Given the description of an element on the screen output the (x, y) to click on. 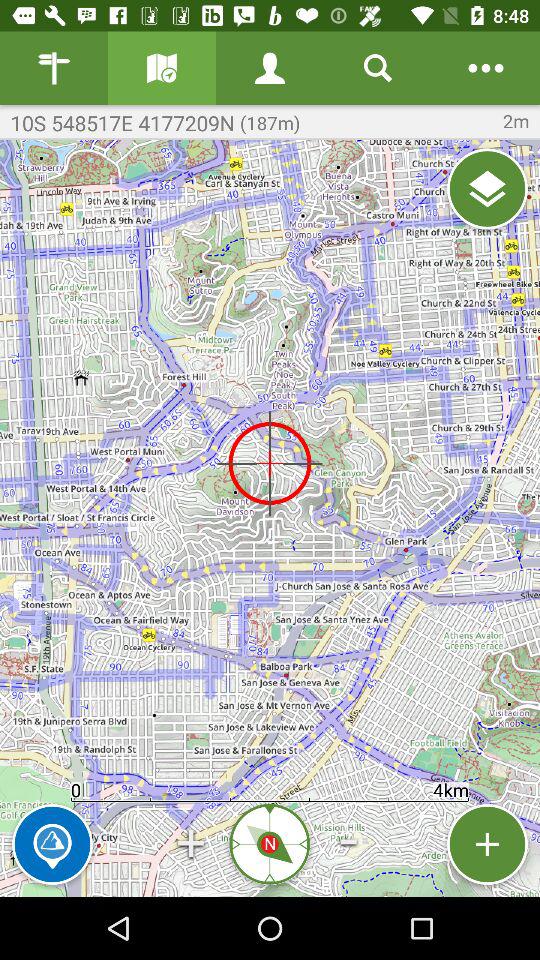
tap the item next to + item (52, 843)
